Given the description of an element on the screen output the (x, y) to click on. 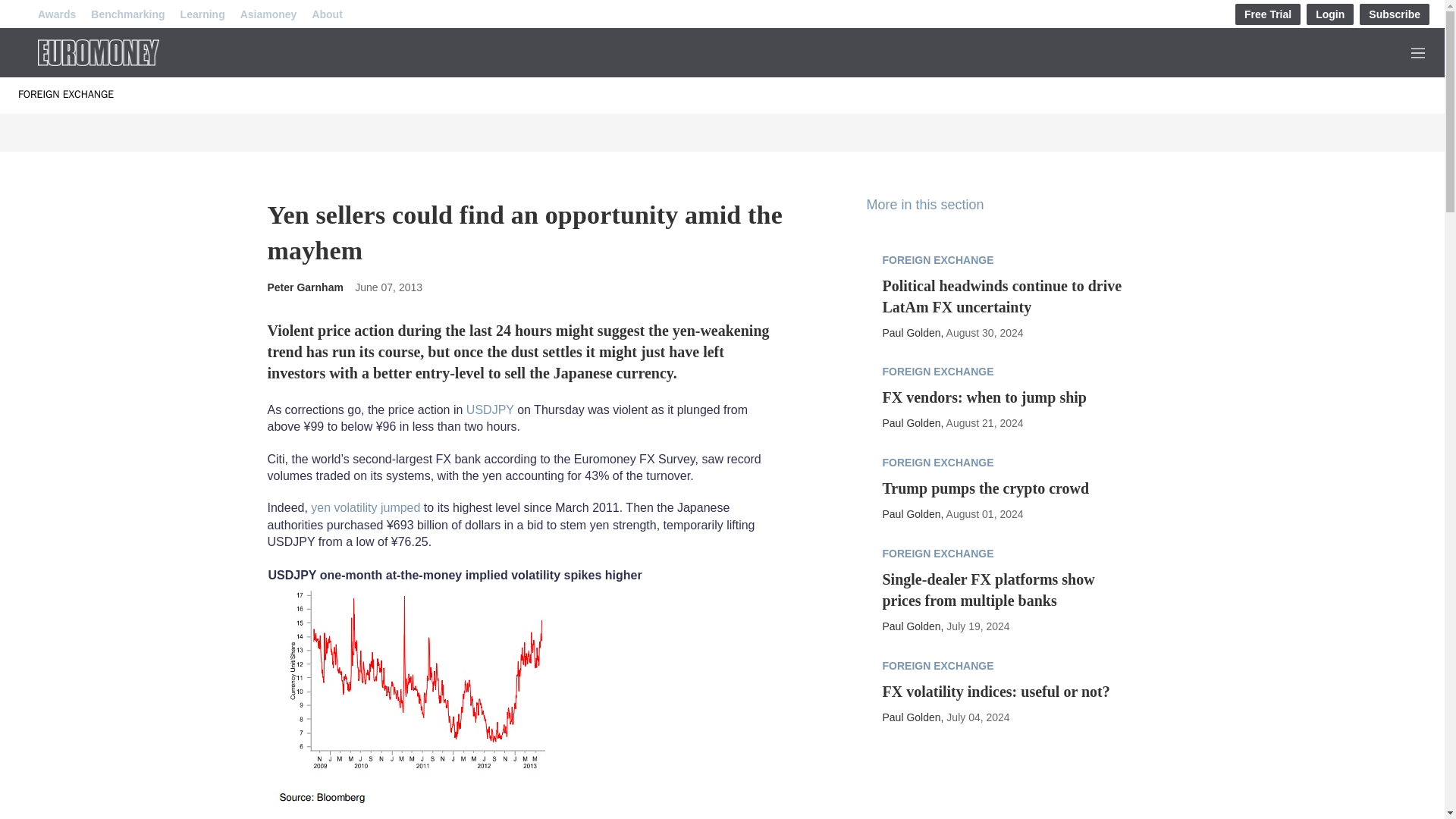
Subscribe (1394, 13)
Benchmarking (127, 13)
About (326, 13)
Free Trial (1267, 13)
Login (1329, 13)
Awards (56, 13)
Asiamoney (268, 13)
Learning (202, 13)
